Given the description of an element on the screen output the (x, y) to click on. 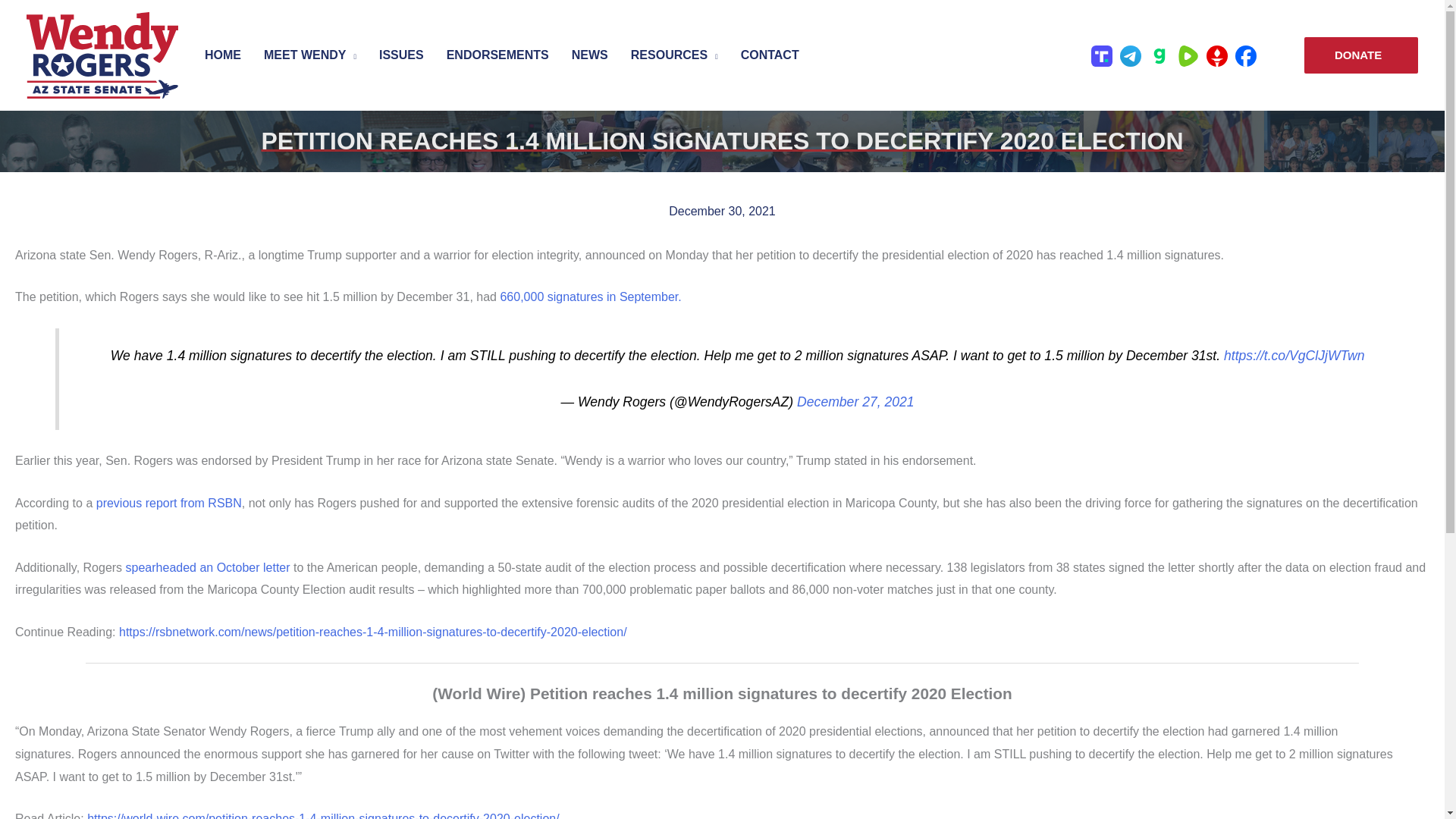
ENDORSEMENTS (497, 55)
X (1274, 55)
MEET WENDY (309, 55)
NEWS (590, 55)
GETTR (1216, 55)
DONATE (1361, 54)
Facebook (1245, 55)
ISSUES (401, 55)
Telegram (1130, 55)
HOME (222, 55)
CONTACT (769, 55)
Truth Social (1101, 55)
Rumble (1187, 55)
RESOURCES (674, 55)
Gab (1158, 55)
